Given the description of an element on the screen output the (x, y) to click on. 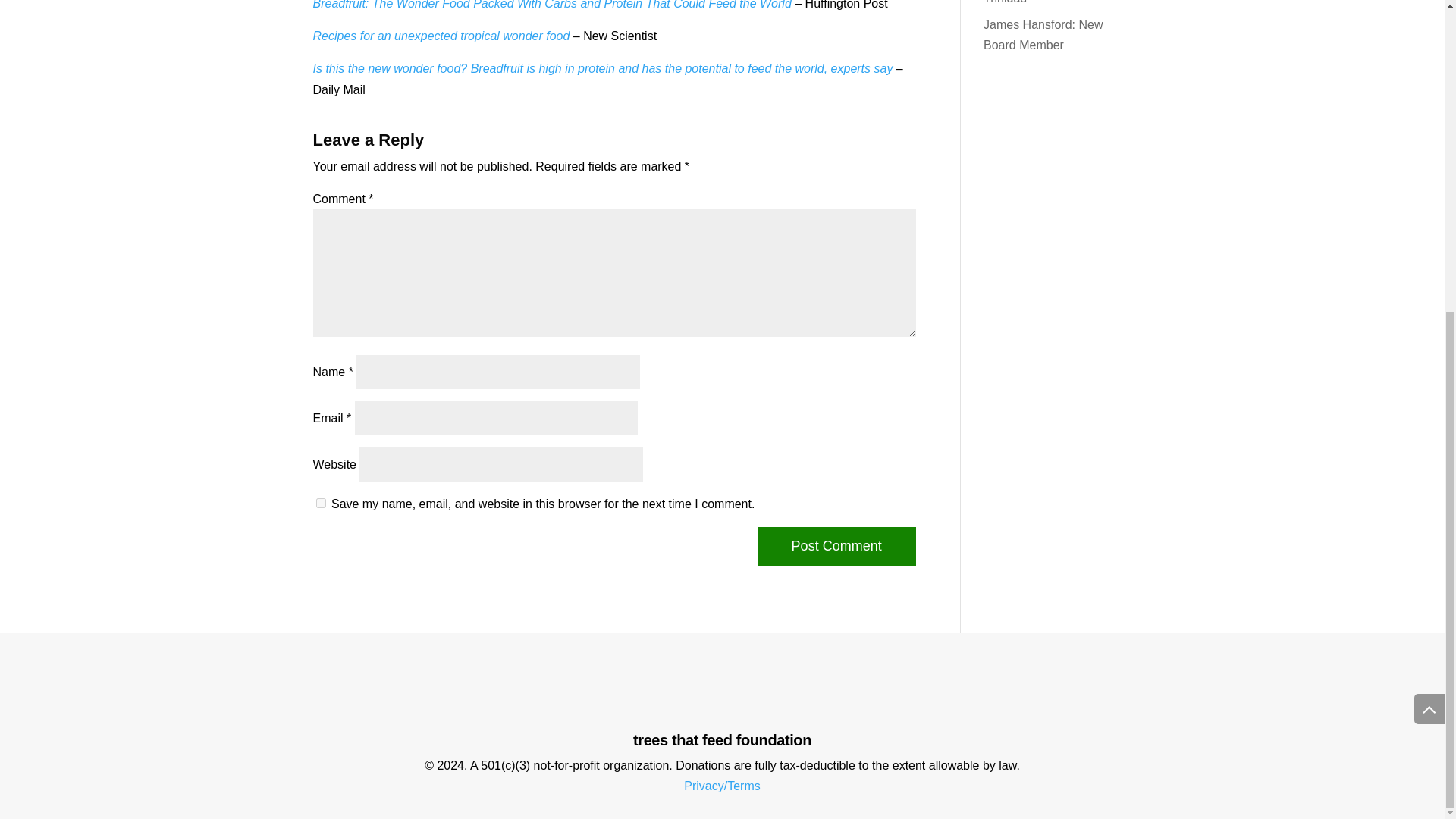
Post Comment (836, 546)
yes (319, 502)
logo-2 (722, 687)
